Given the description of an element on the screen output the (x, y) to click on. 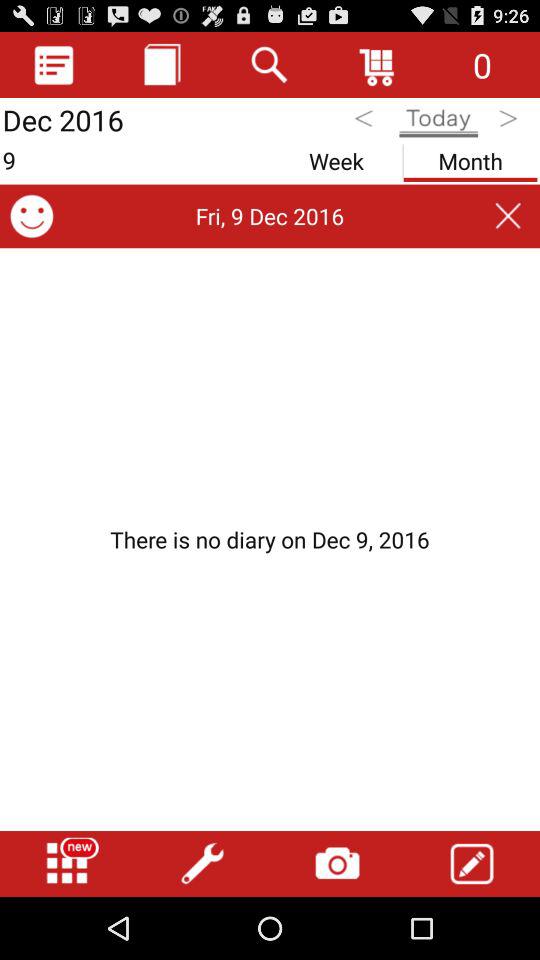
take photo button (337, 863)
